Given the description of an element on the screen output the (x, y) to click on. 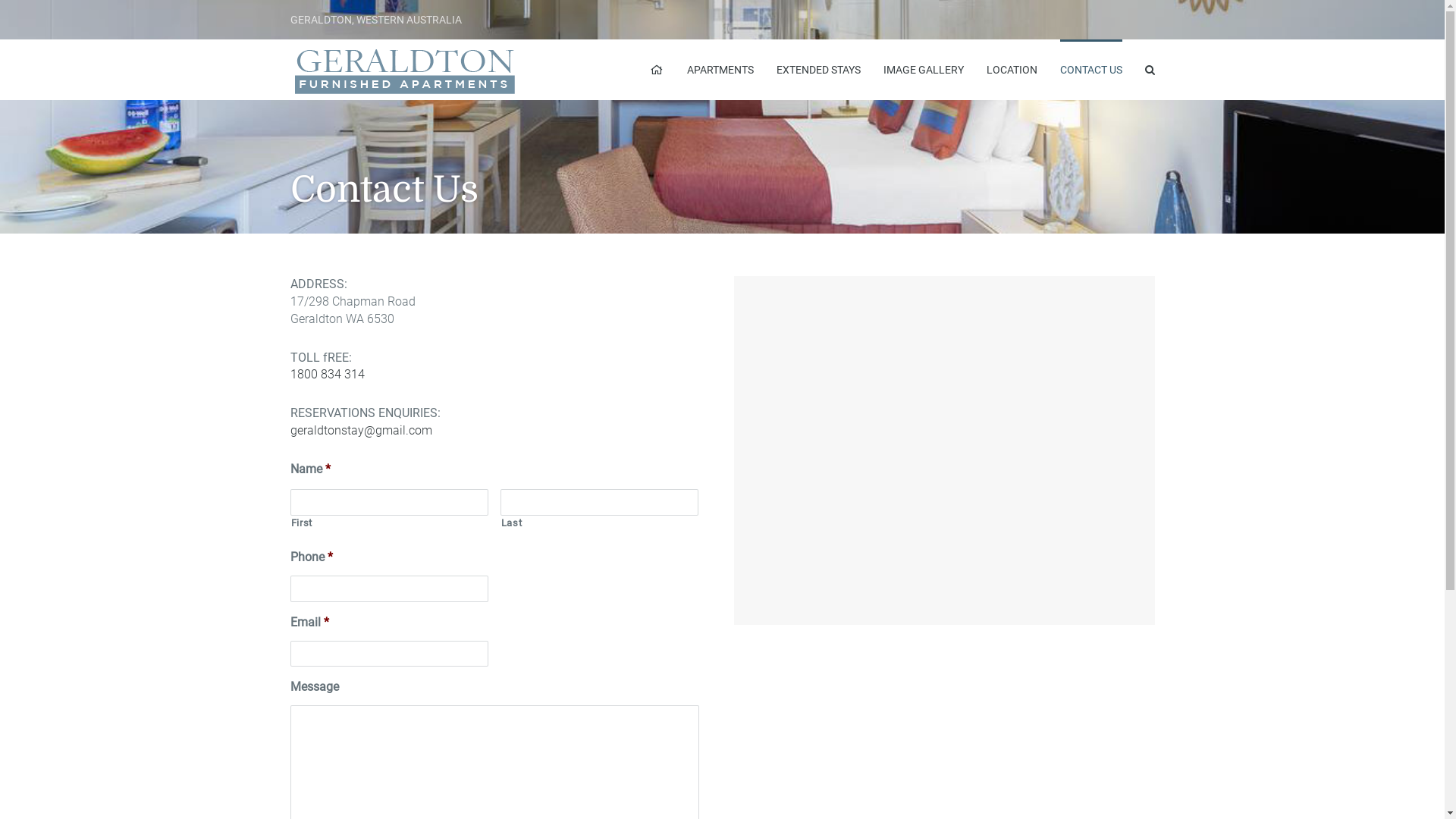
APARTMENTS Element type: text (720, 69)
EXTENDED STAYS Element type: text (818, 69)
LOCATION Element type: text (1010, 69)
geraldtonstay@gmail.com Element type: text (360, 430)
CONTACT US Element type: text (1091, 69)
1800 834 314 Element type: text (326, 374)
IMAGE GALLERY Element type: text (922, 69)
